Given the description of an element on the screen output the (x, y) to click on. 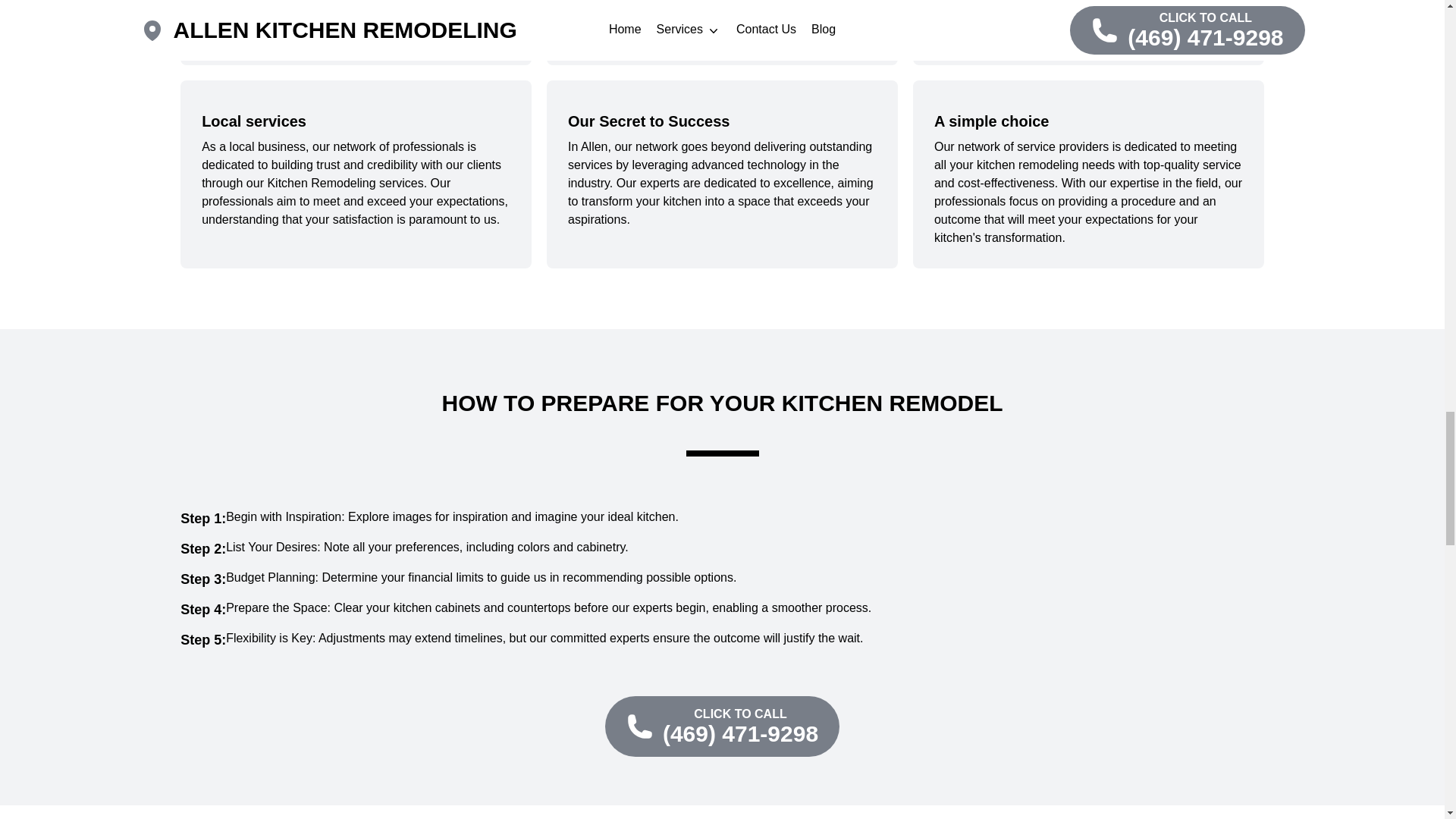
Click to call us (722, 726)
